Given the description of an element on the screen output the (x, y) to click on. 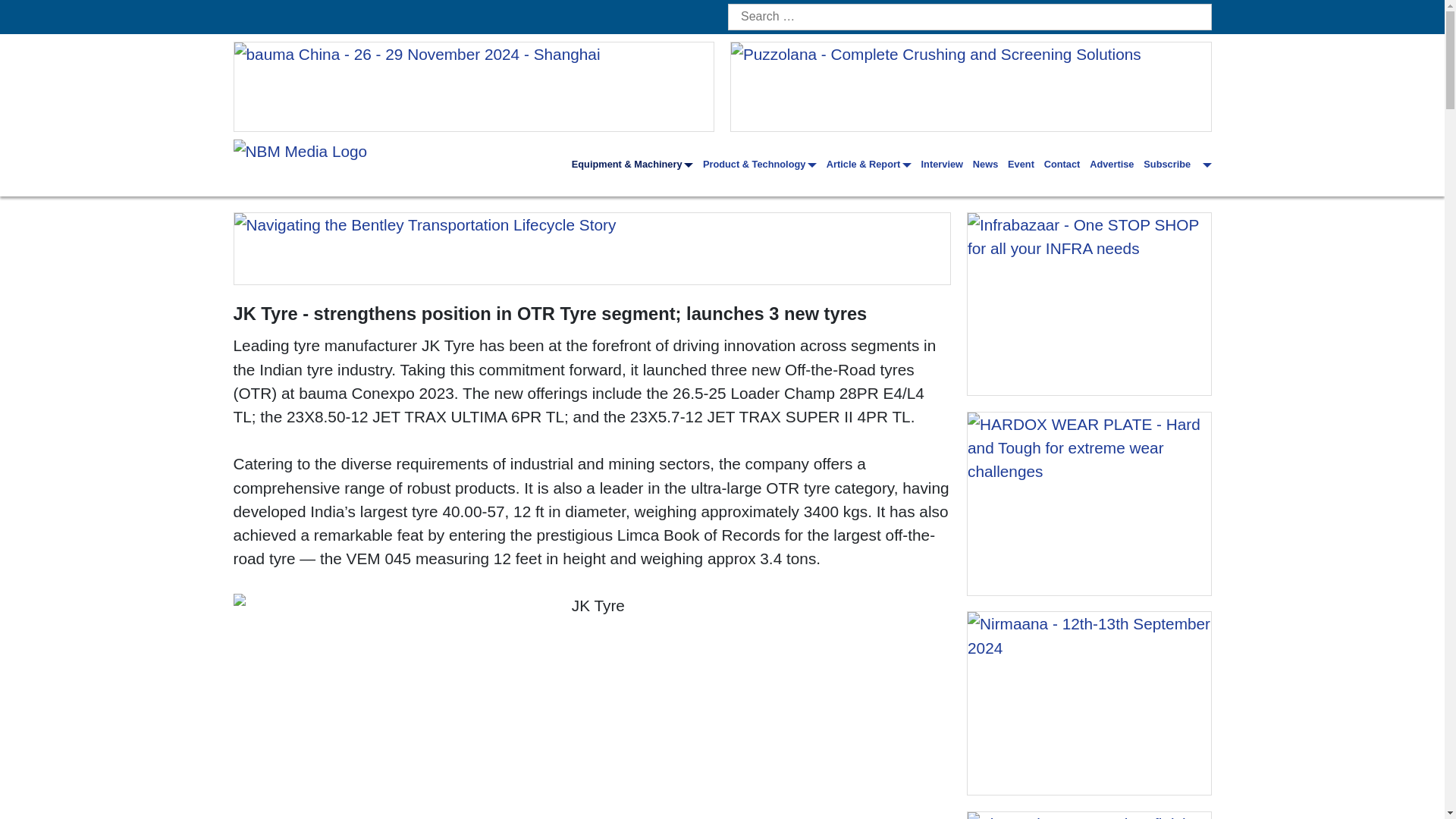
Navigating the Bentley Transportation Lifecycle Story (591, 248)
Nirmaana - 12th-13th September 2024 (1089, 702)
Infrabazaar - One STOP SHOP for all your INFRA needs (1089, 303)
Puzzolana - Complete Crushing and Screening Solutions (970, 86)
Sharp Ply - Formwork to finish (1089, 815)
bauma China - 26 - 29 November 2024 - Shanghai (472, 86)
